Given the description of an element on the screen output the (x, y) to click on. 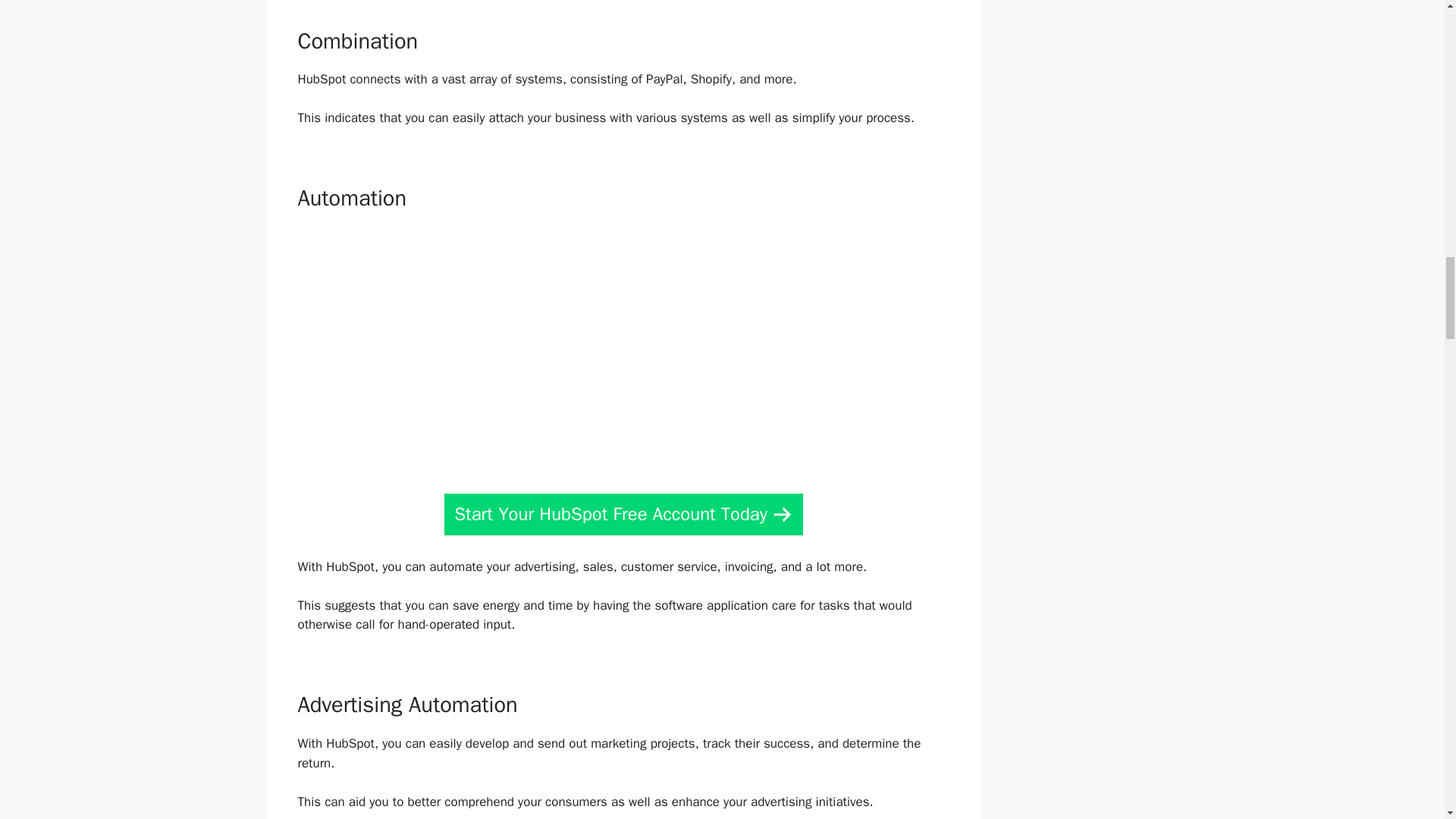
YouTube video player (619, 346)
Start Your HubSpot Free Account Today (623, 514)
